Given the description of an element on the screen output the (x, y) to click on. 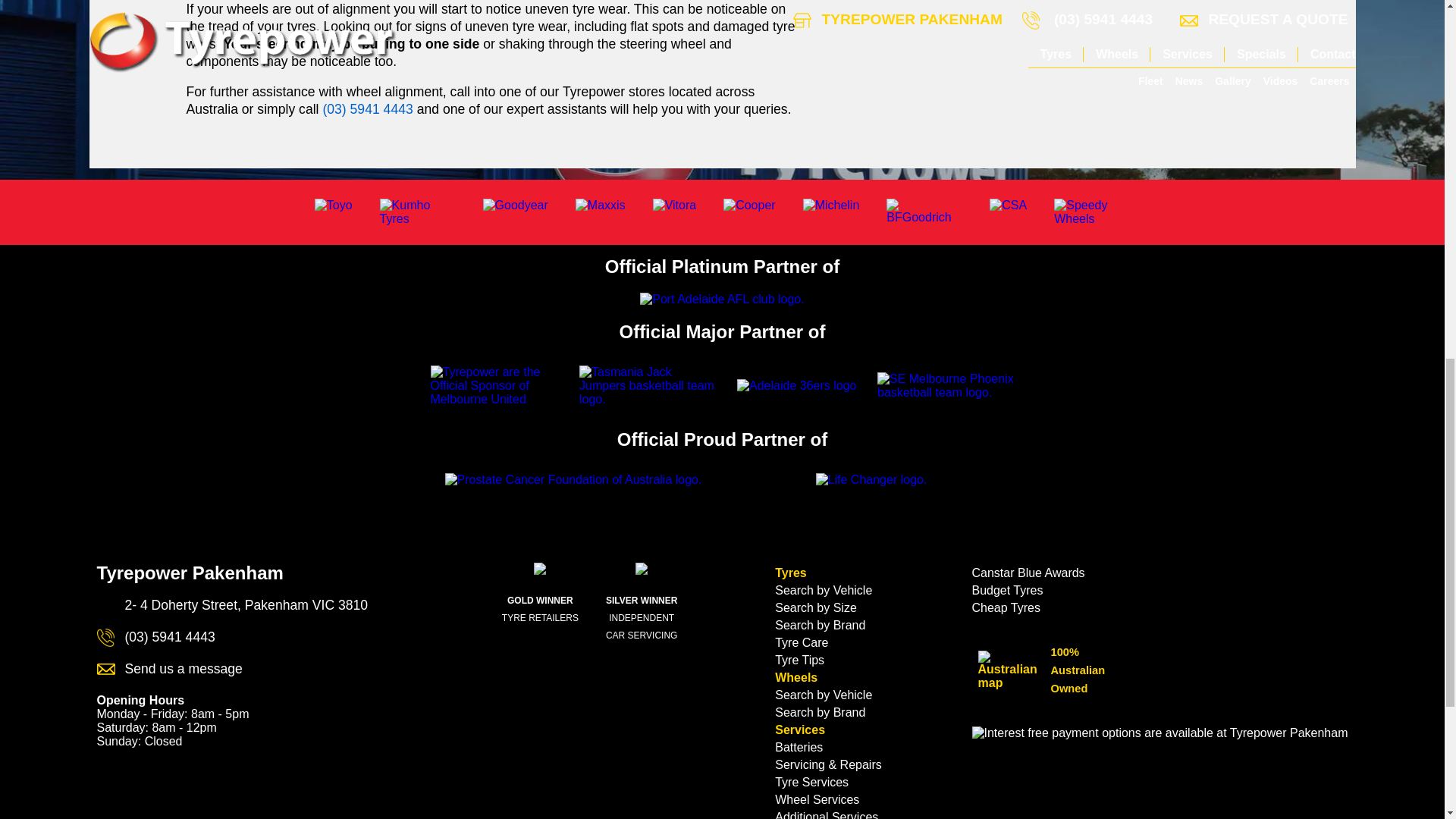
Melbourne United (498, 385)
Click to call now! (366, 109)
S.E. Melbourne Phoenix (945, 385)
Adelaide 36ers (796, 386)
Tasmania Jack Jumpers (647, 385)
